Given the description of an element on the screen output the (x, y) to click on. 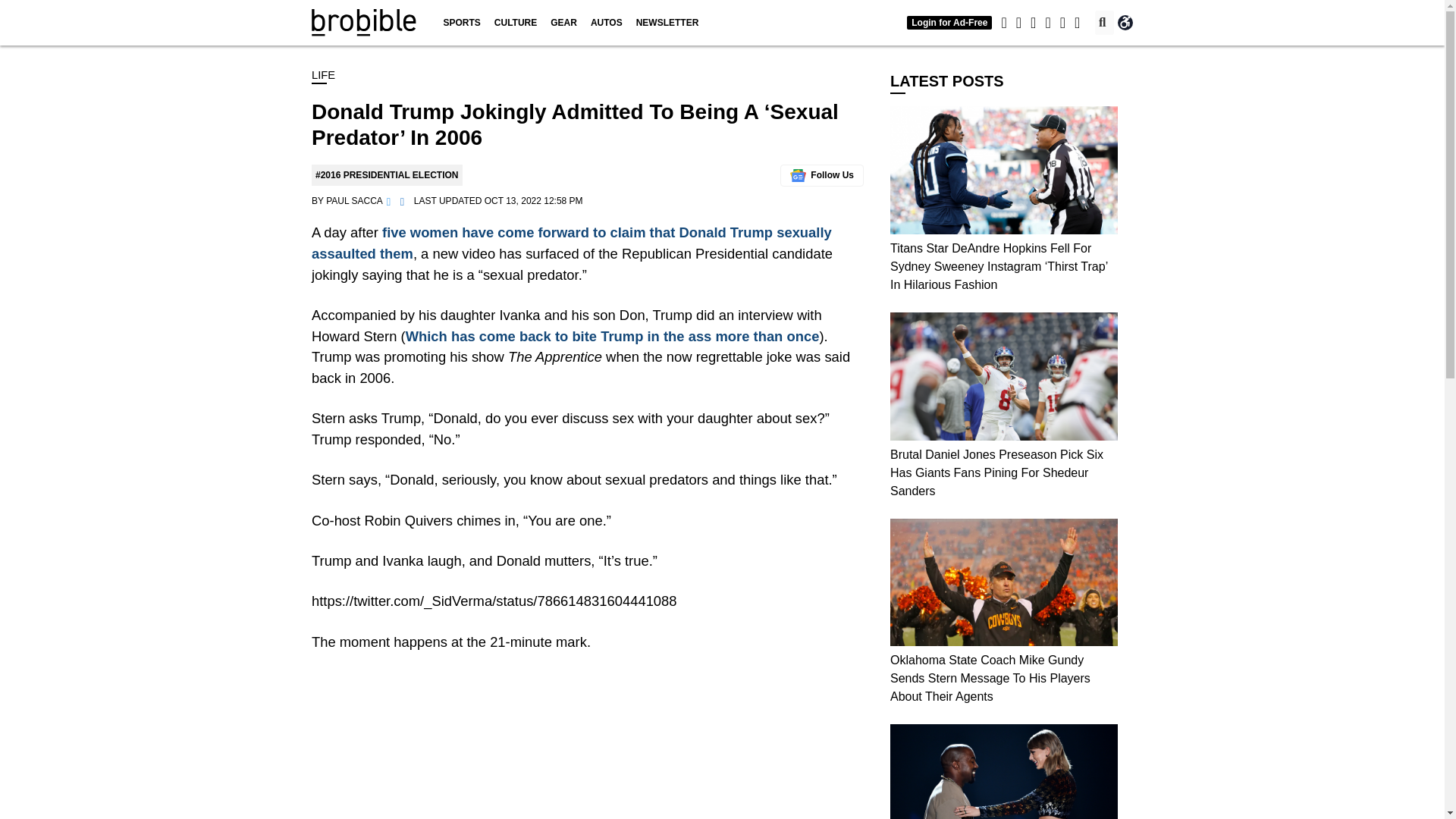
Posts by Paul Sacca (354, 200)
Follow us on Google News (821, 175)
CULTURE (515, 22)
SPORTS (460, 22)
Accessibility (1125, 22)
Login for Ad-Free (949, 22)
